Given the description of an element on the screen output the (x, y) to click on. 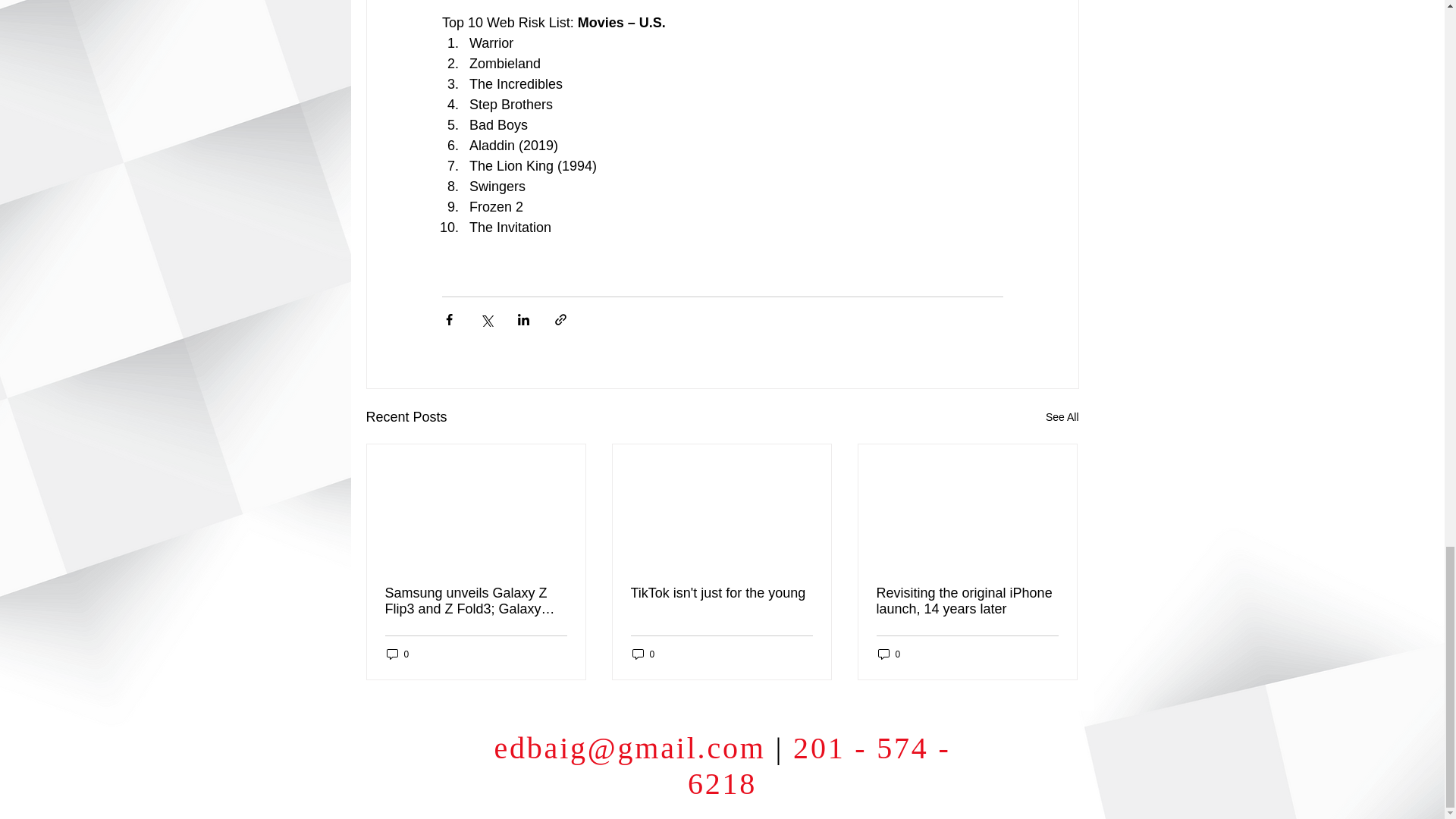
0 (397, 653)
See All (1061, 417)
0 (889, 653)
Revisiting the original iPhone launch, 14 years later (967, 601)
201 - 574 - 6218 (818, 765)
TikTok isn't just for the young (721, 593)
0 (643, 653)
